Given the description of an element on the screen output the (x, y) to click on. 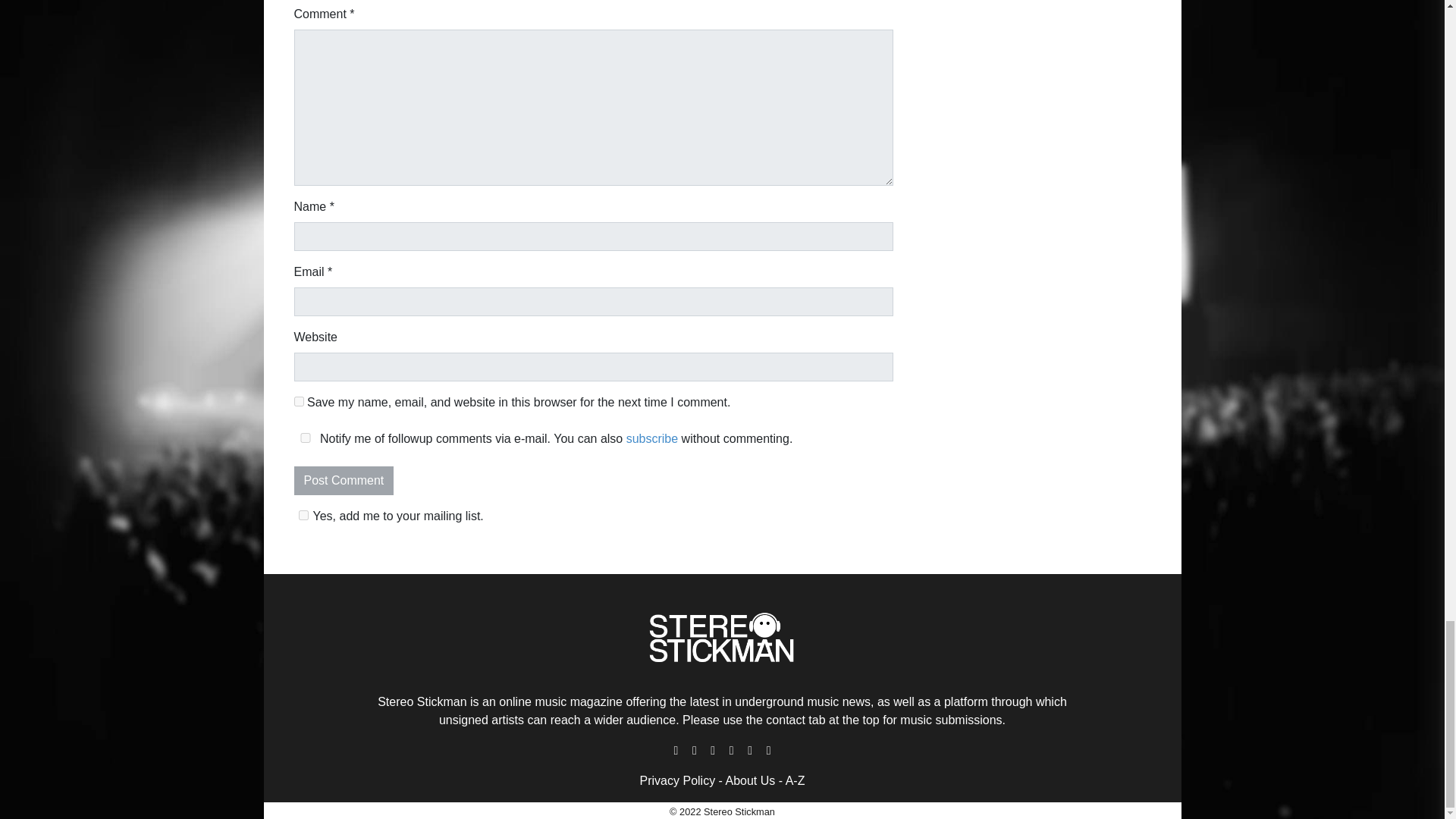
Post Comment (344, 480)
1 (303, 515)
Post Comment (344, 480)
subscribe (652, 438)
yes (299, 401)
yes (305, 438)
